Given the description of an element on the screen output the (x, y) to click on. 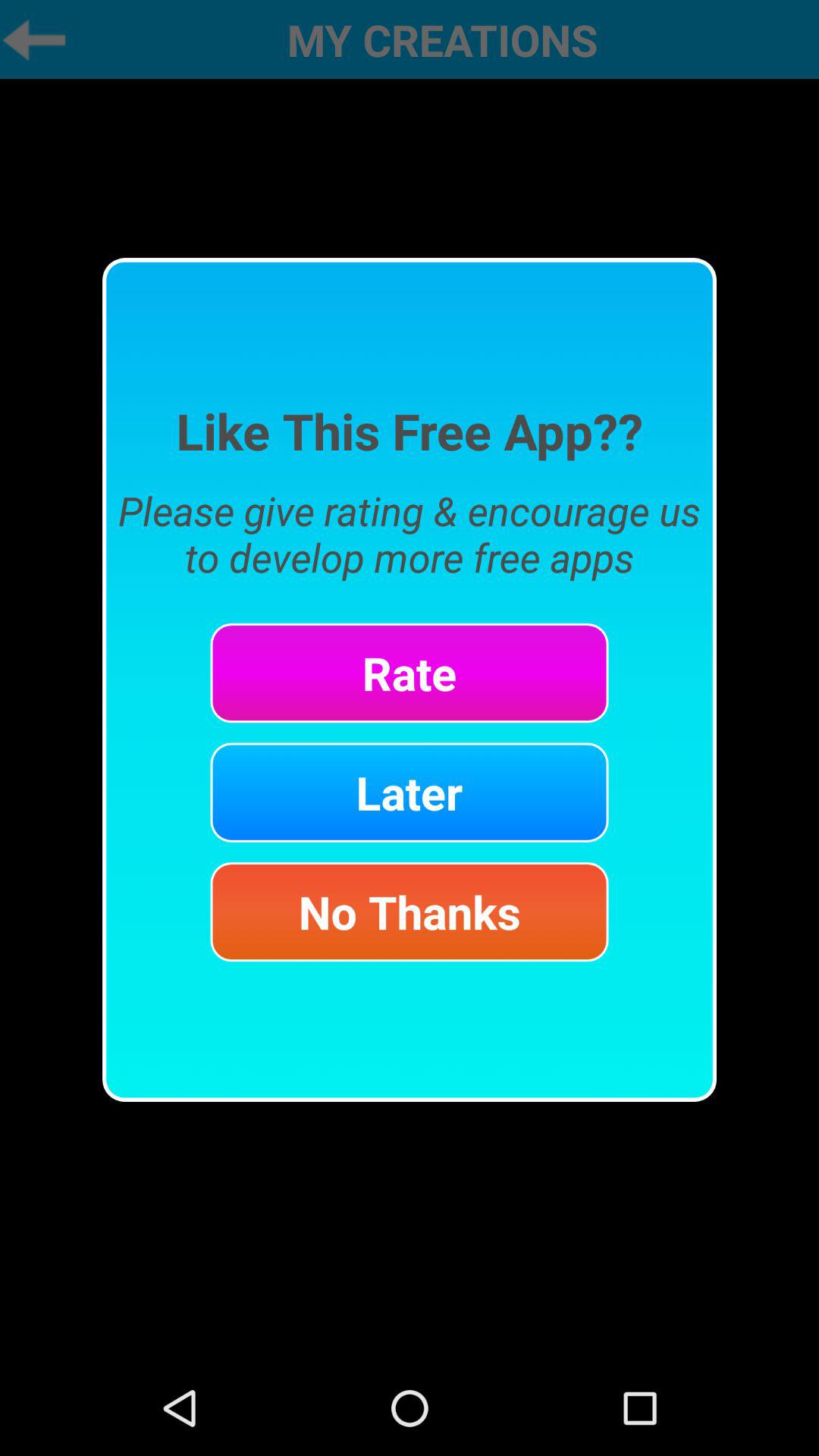
turn off the item below the please give rating item (409, 672)
